Given the description of an element on the screen output the (x, y) to click on. 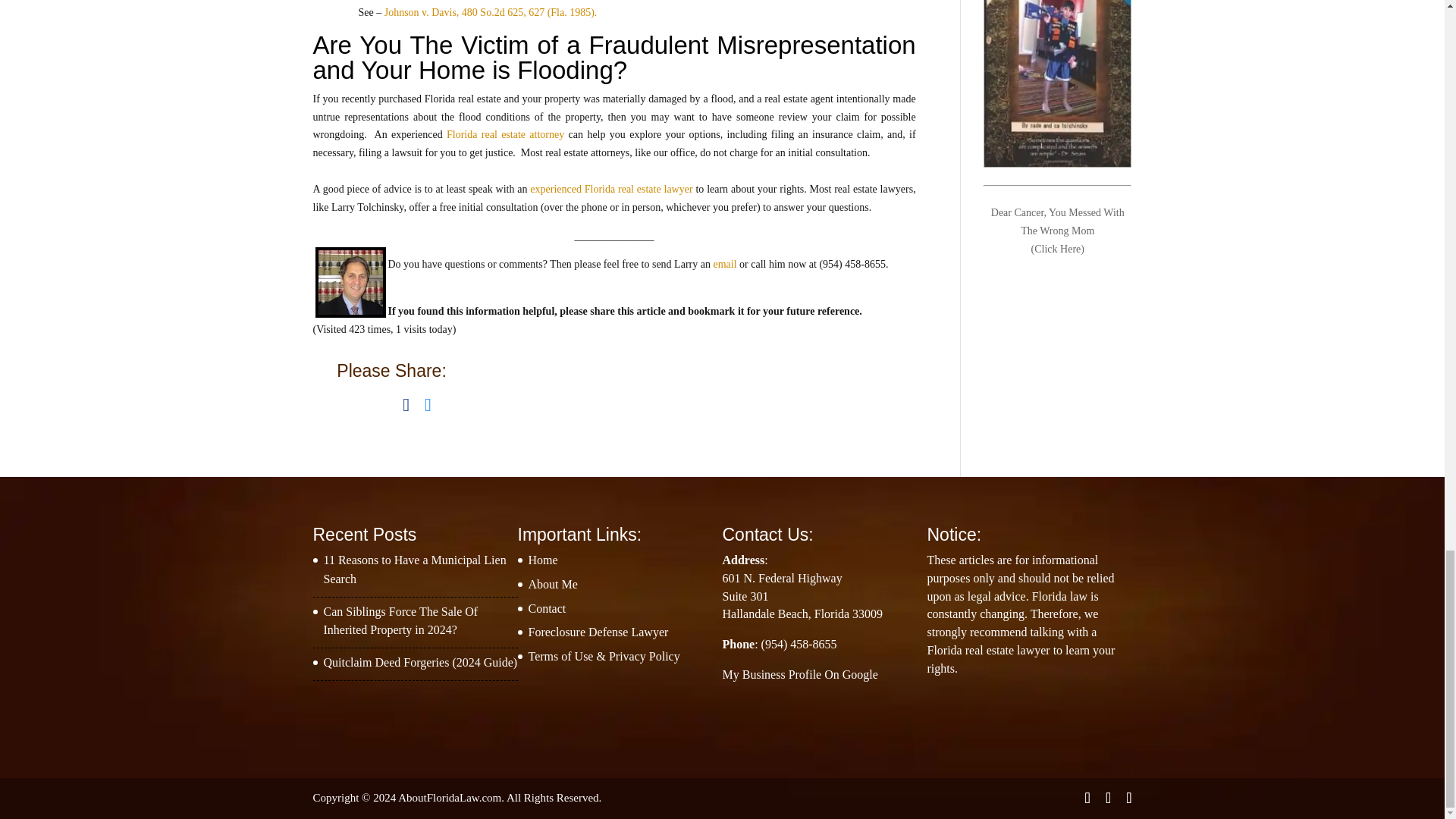
Florida real estate attorney (505, 134)
email (724, 264)
experienced Florida real estate lawyer (611, 188)
